Given the description of an element on the screen output the (x, y) to click on. 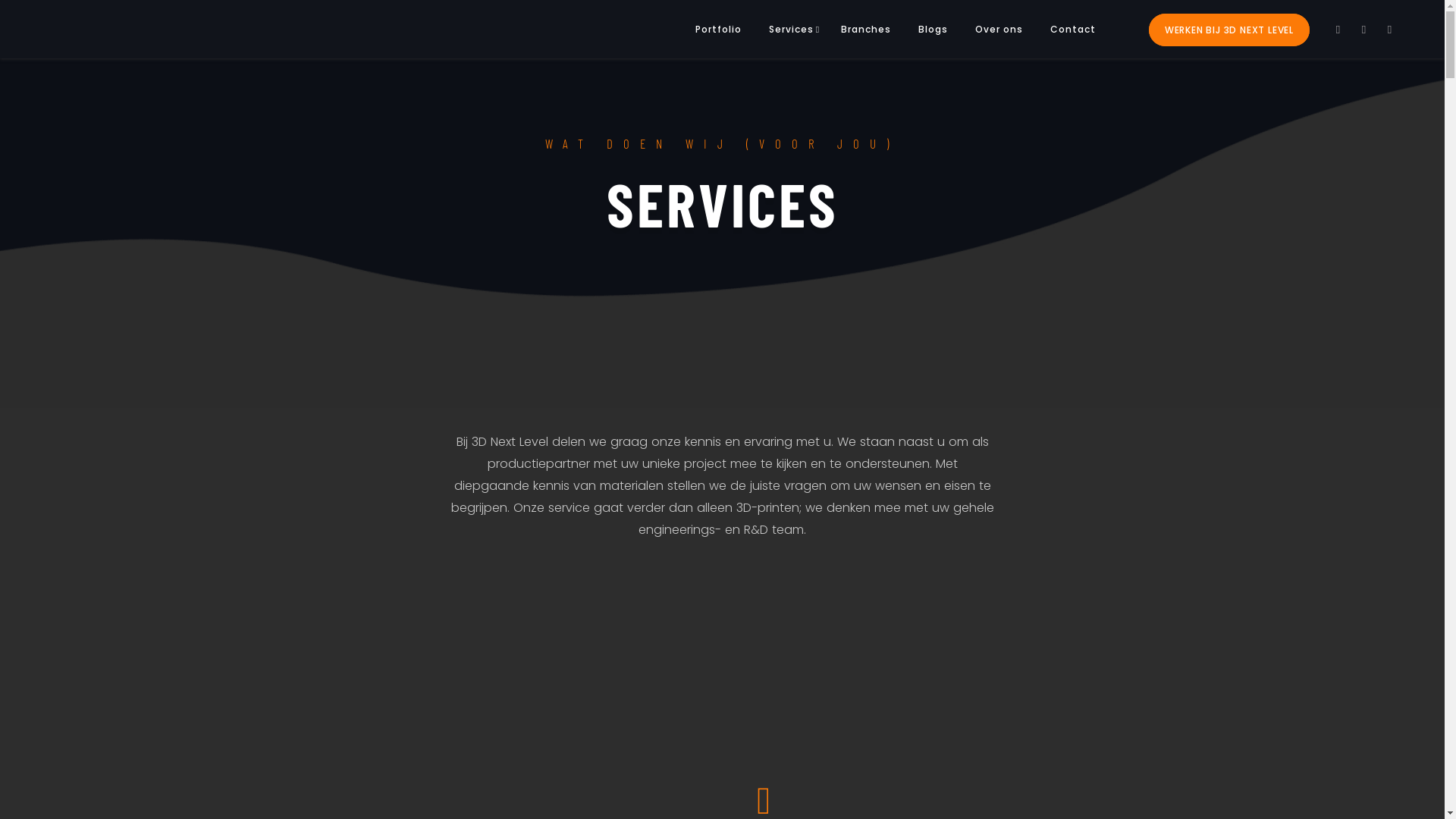
Portfolio Element type: text (718, 29)
Services Element type: text (791, 29)
Blogs Element type: text (932, 29)
Over ons Element type: text (998, 29)
Contact Element type: text (1072, 29)
WERKEN BIJ 3D NEXT LEVEL Element type: text (1228, 29)
Branches Element type: text (865, 29)
